Given the description of an element on the screen output the (x, y) to click on. 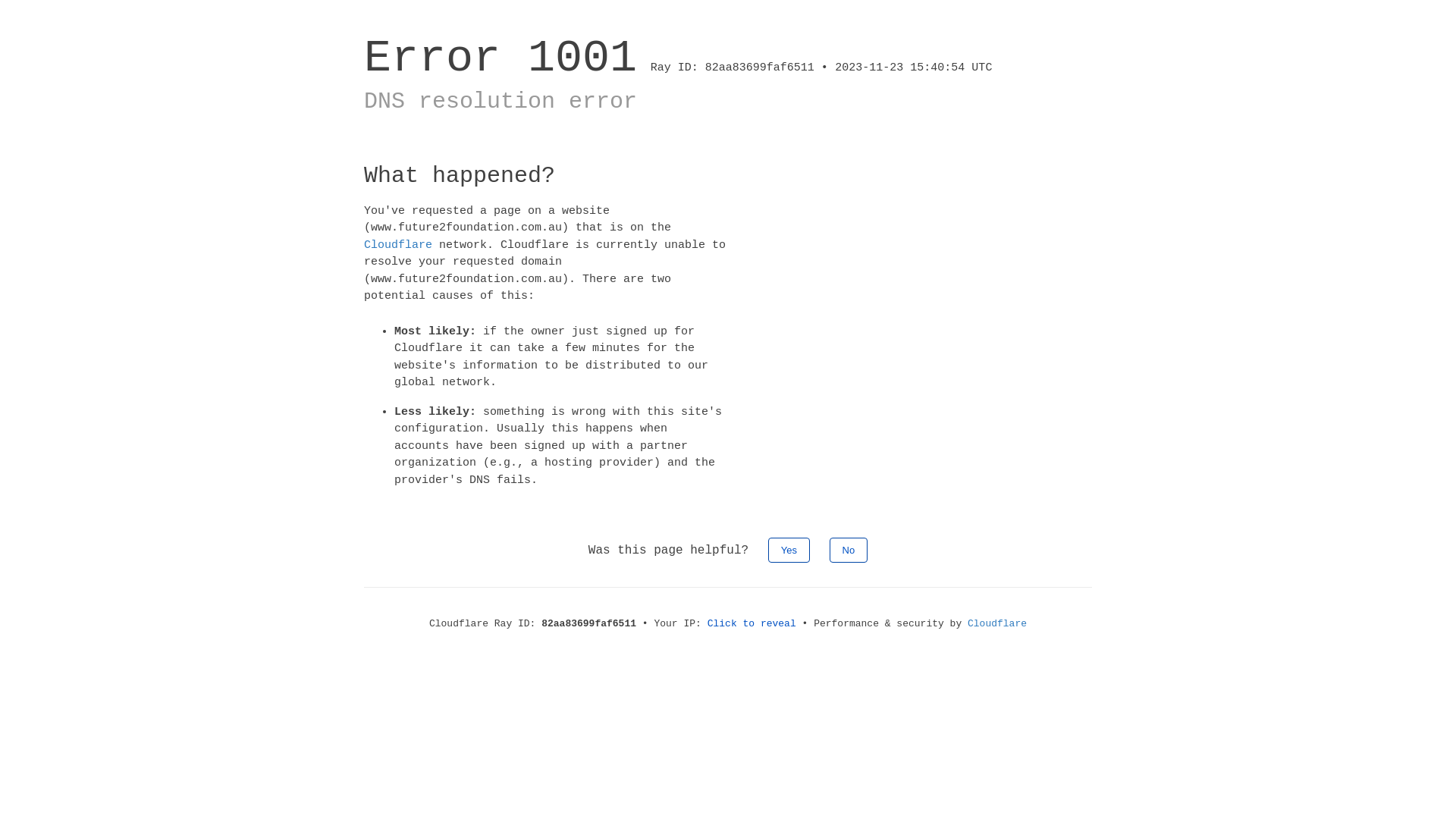
No Element type: text (848, 549)
Yes Element type: text (788, 549)
Click to reveal Element type: text (751, 623)
Cloudflare Element type: text (996, 623)
Cloudflare Element type: text (398, 244)
